Given the description of an element on the screen output the (x, y) to click on. 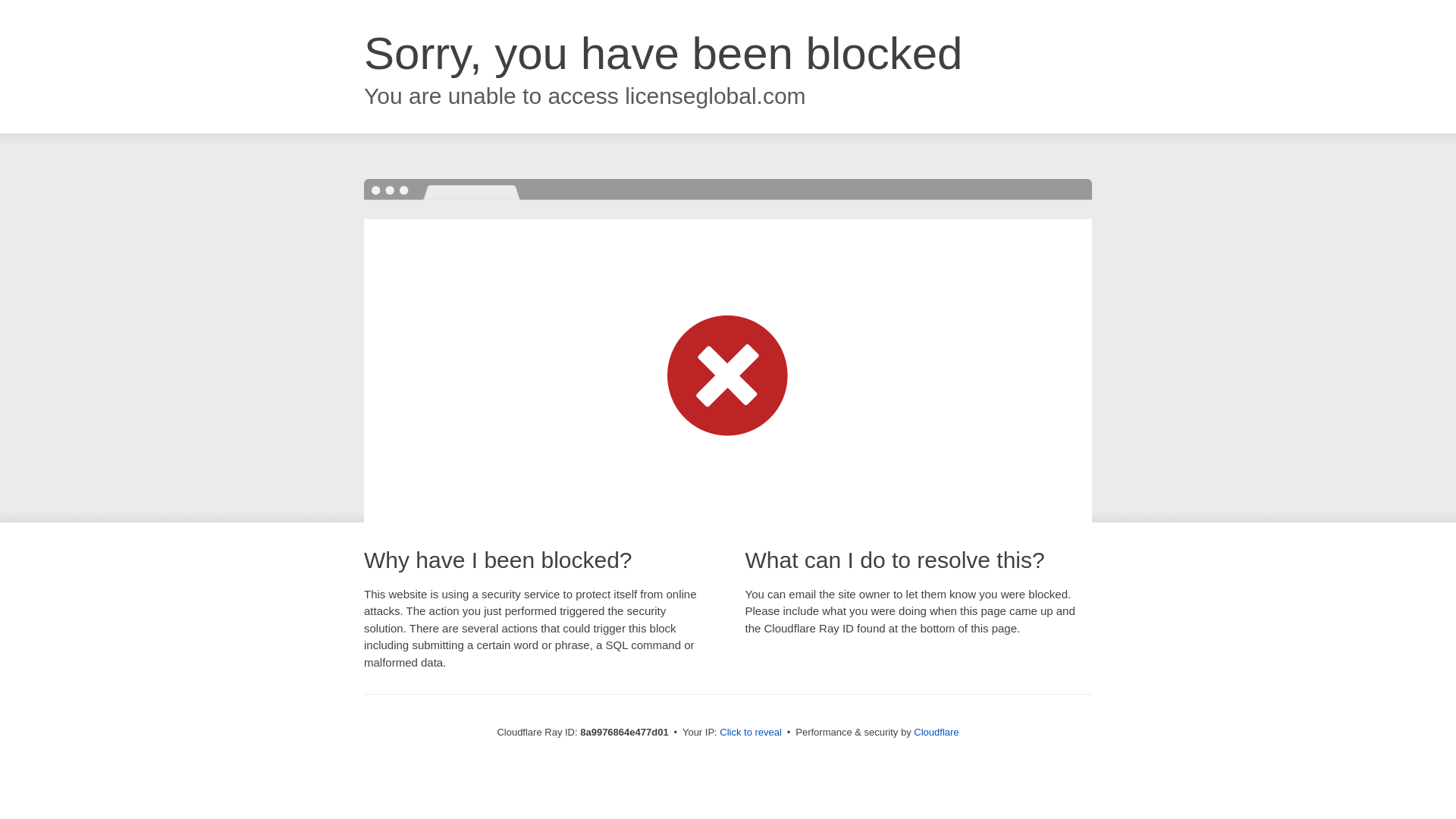
Click to reveal (750, 732)
Cloudflare (936, 731)
